Given the description of an element on the screen output the (x, y) to click on. 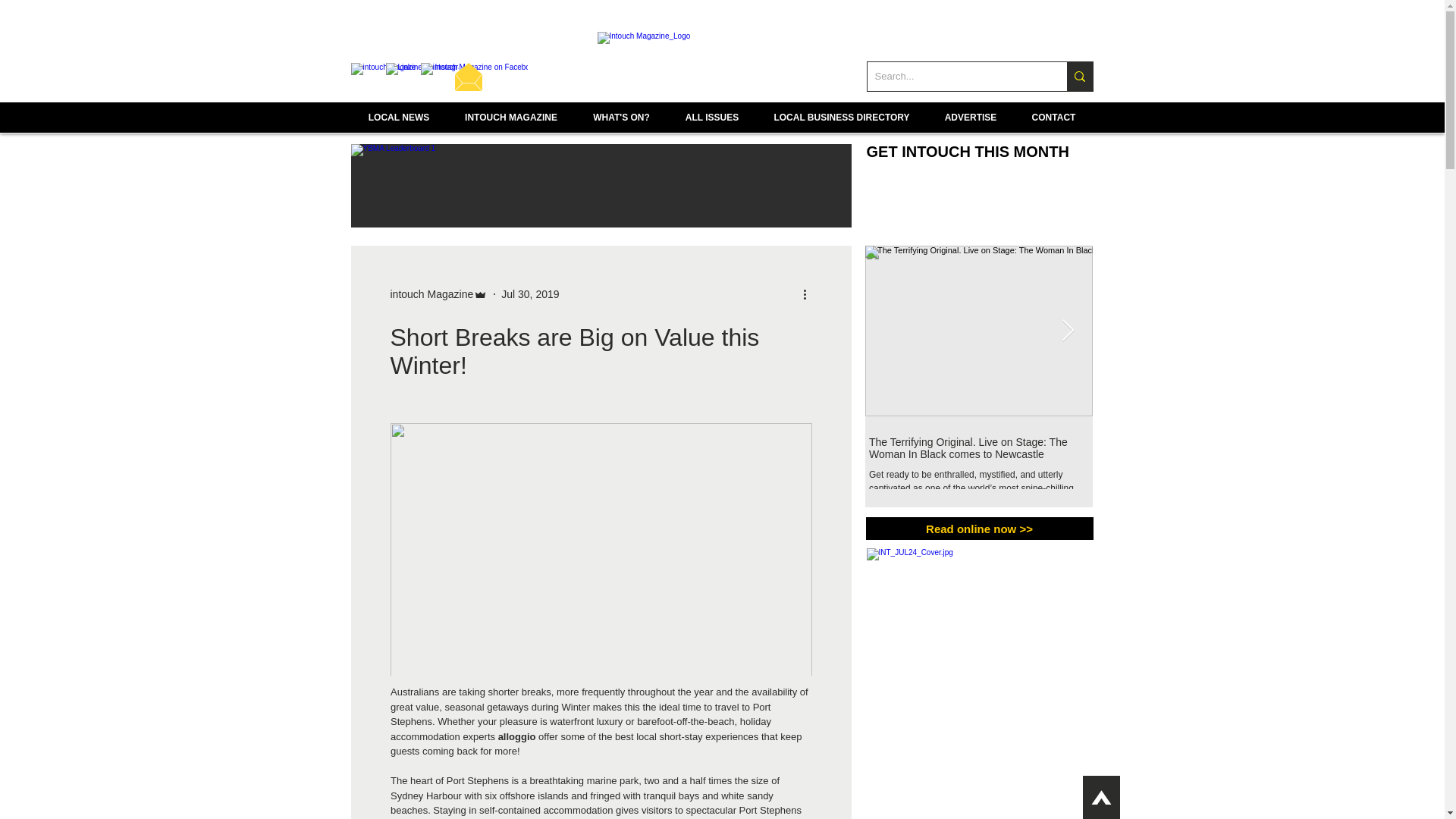
Intouch Magazine logo (721, 61)
ALL ISSUES (710, 122)
LOCAL NEWS (398, 122)
ADVERTISE (969, 122)
intouch Magazine (431, 294)
INTOUCH MAGAZINE (510, 122)
WHAT'S ON? (620, 122)
LOCAL BUSINESS DIRECTORY (842, 122)
Jul 30, 2019 (529, 294)
Rock On! School of Rock Musical Storms Newcastle Stage (1206, 447)
CONTACT (1053, 122)
